Given the description of an element on the screen output the (x, y) to click on. 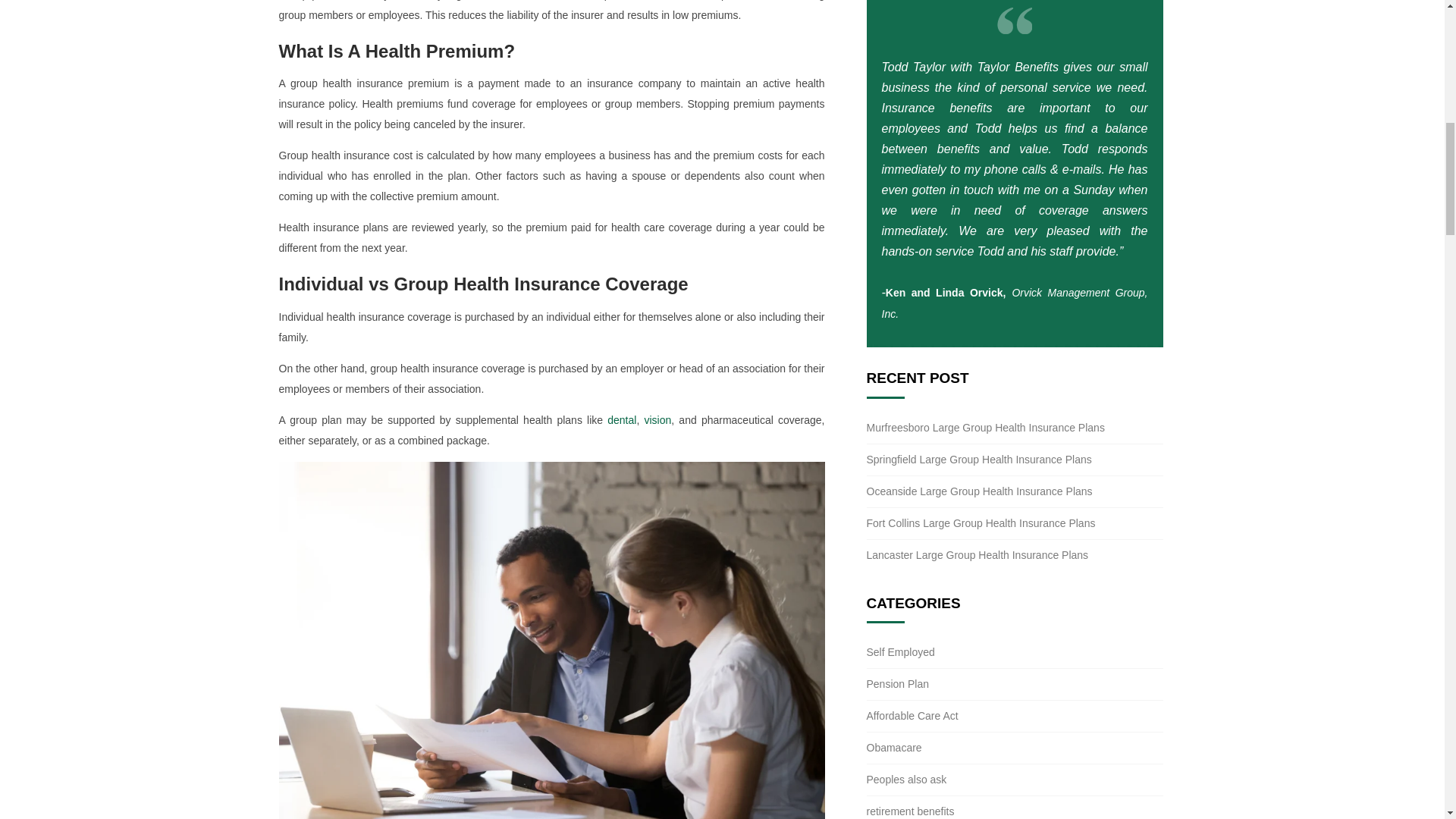
Murfreesboro Large Group Health Insurance Plans (984, 427)
Oceanside Large Group Health Insurance Plans (979, 491)
Springfield Large Group Health Insurance Plans (978, 459)
dental (621, 419)
vision (658, 419)
Fort Collins Large Group Health Insurance Plans (980, 522)
Lancaster Large Group Health Insurance Plans (976, 554)
